Given the description of an element on the screen output the (x, y) to click on. 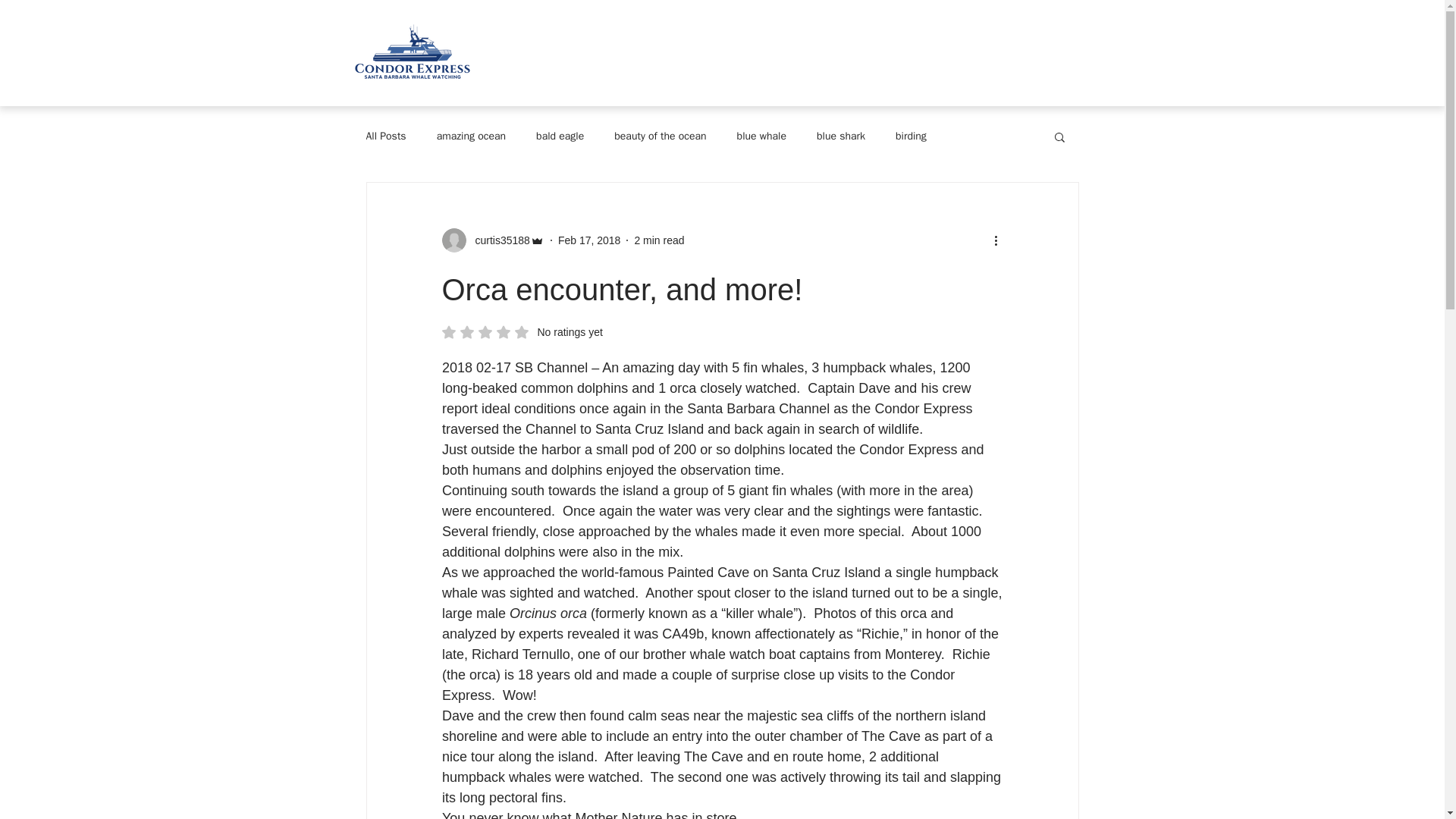
beauty of the ocean (660, 136)
birding (910, 136)
Feb 17, 2018 (589, 239)
blue whale (761, 136)
2 min read (658, 239)
All Posts (385, 136)
blue shark (840, 136)
curtis35188 (497, 239)
bald eagle (559, 136)
amazing ocean (470, 136)
